Given the description of an element on the screen output the (x, y) to click on. 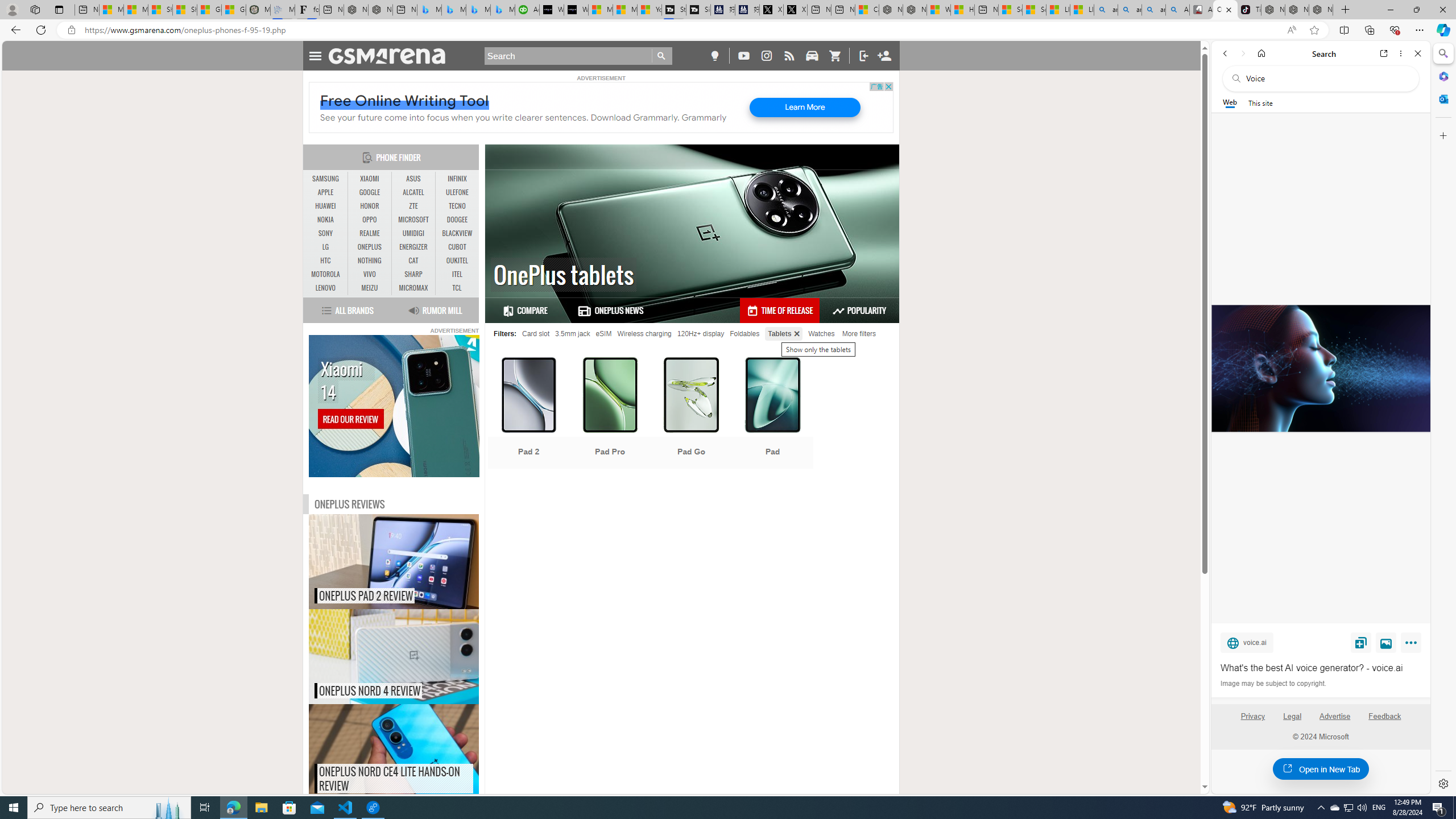
BLACKVIEW (457, 233)
ENERGIZER (413, 246)
ENERGIZER (413, 246)
Pad (772, 413)
OnePlus Pad 2 review ONEPLUS PAD 2 REVIEW (393, 561)
ITEL (457, 273)
